Given the description of an element on the screen output the (x, y) to click on. 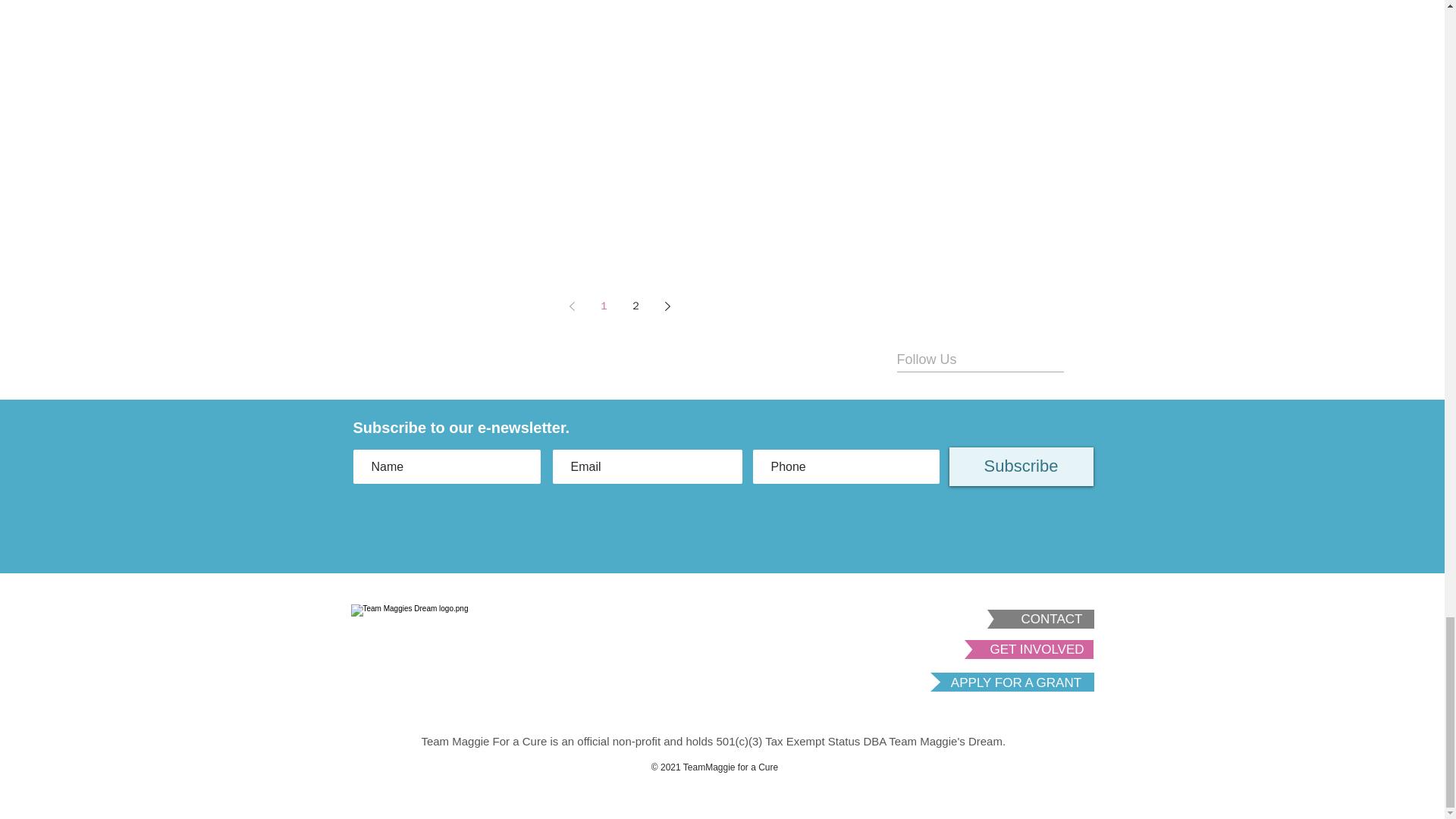
2 (635, 306)
GET INVOLVED (1036, 649)
Subscribe (1021, 466)
CONTACT (1051, 619)
